Given the description of an element on the screen output the (x, y) to click on. 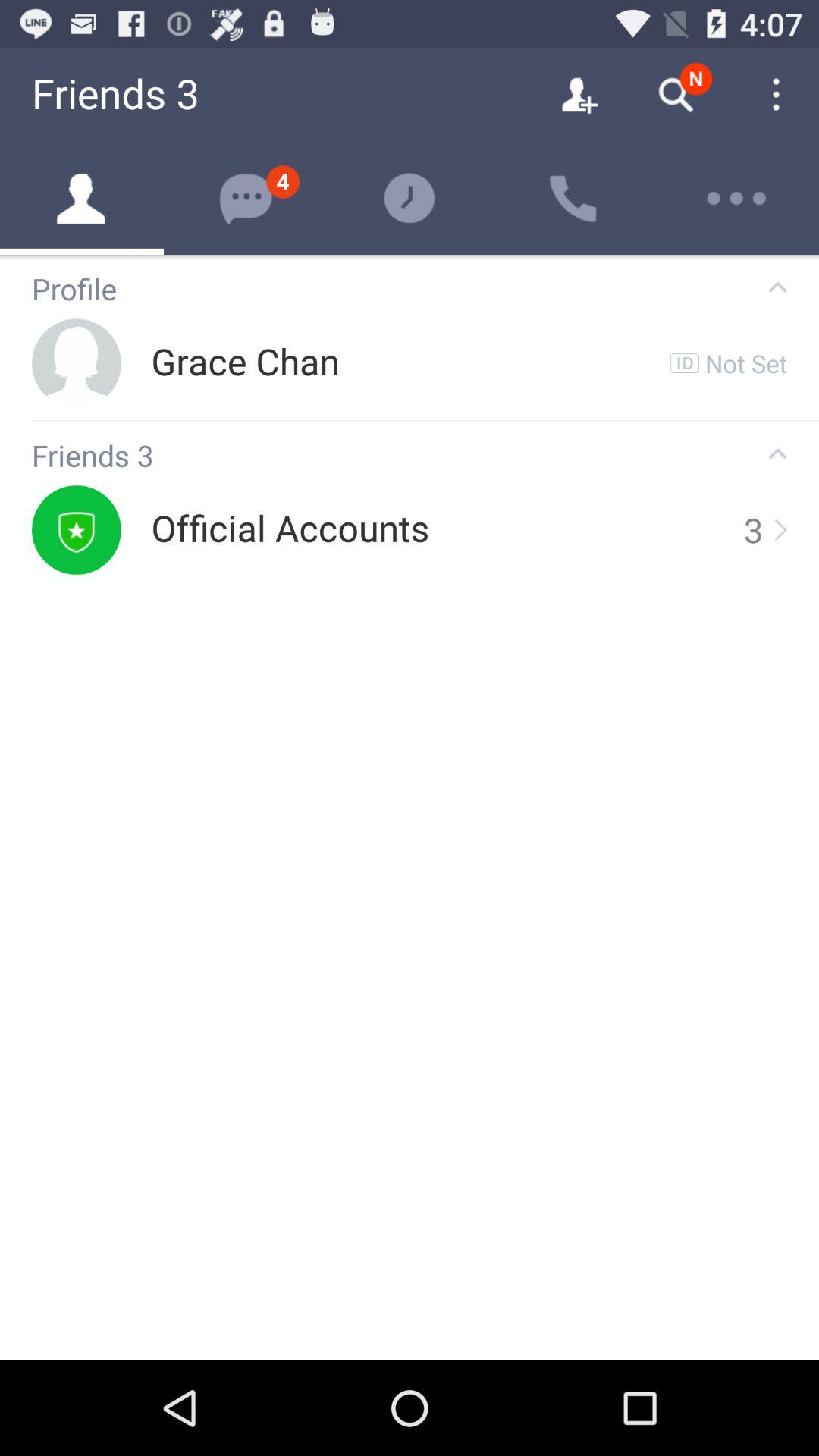
turn on the icon to the left of the 3 icon (290, 529)
